Given the description of an element on the screen output the (x, y) to click on. 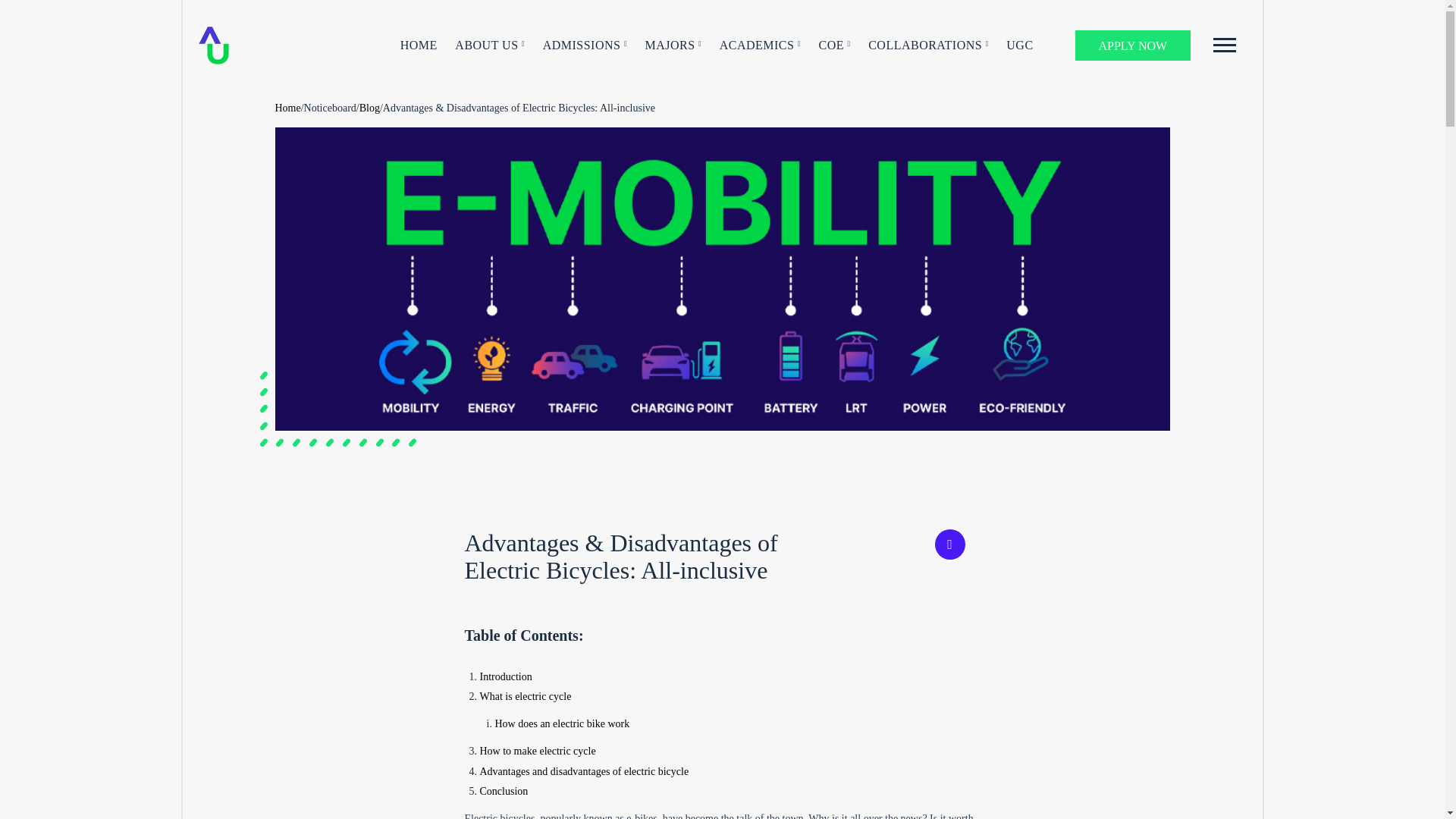
HOME (419, 45)
ABOUT US (489, 45)
APPLY NOW (1133, 45)
UGC (1019, 45)
ADMISSIONS (585, 45)
ACADEMICS (759, 45)
MAJORS (673, 45)
COE (834, 45)
COLLABORATIONS (927, 45)
